Given the description of an element on the screen output the (x, y) to click on. 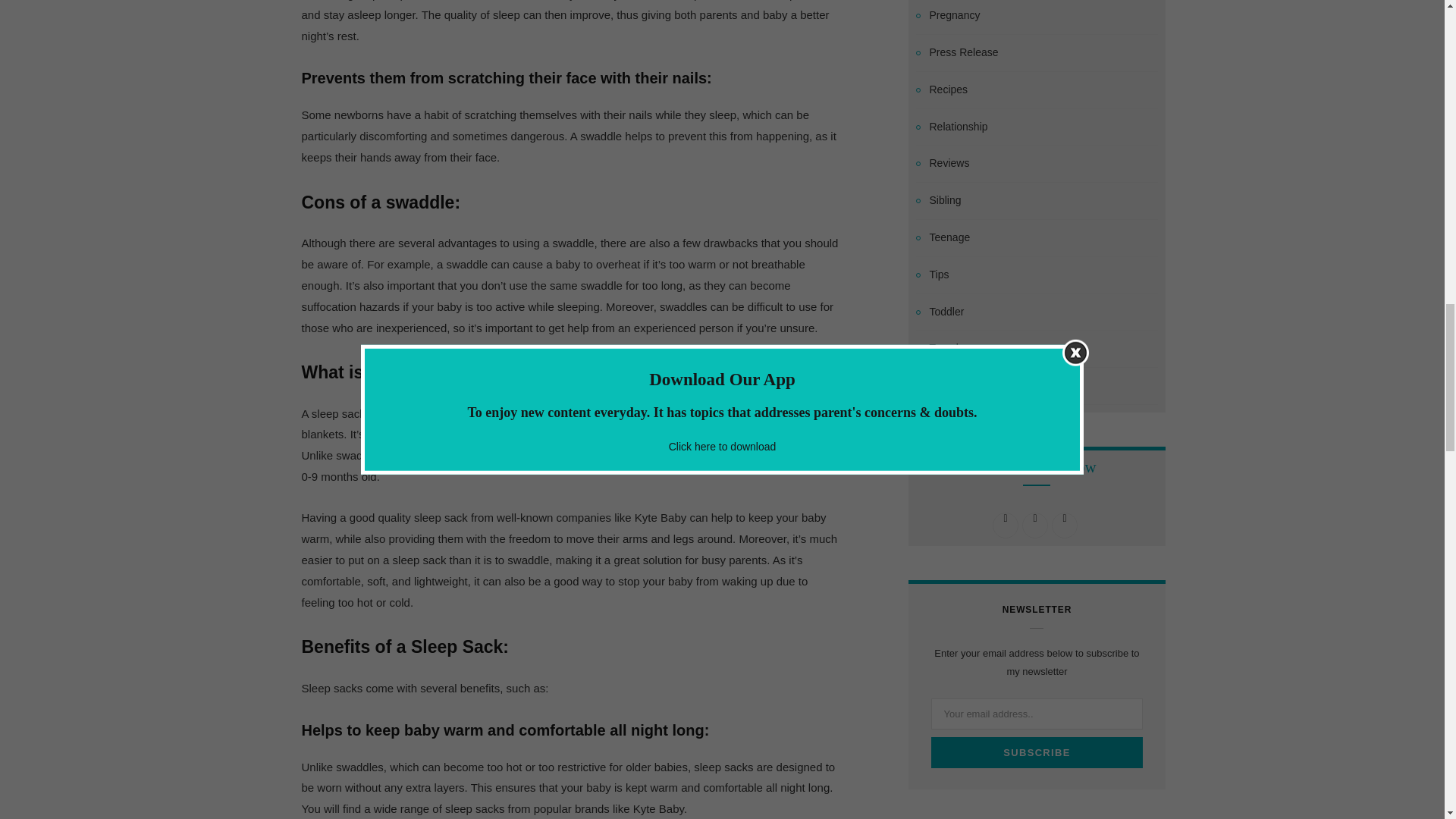
Subscribe (1036, 752)
